Given the description of an element on the screen output the (x, y) to click on. 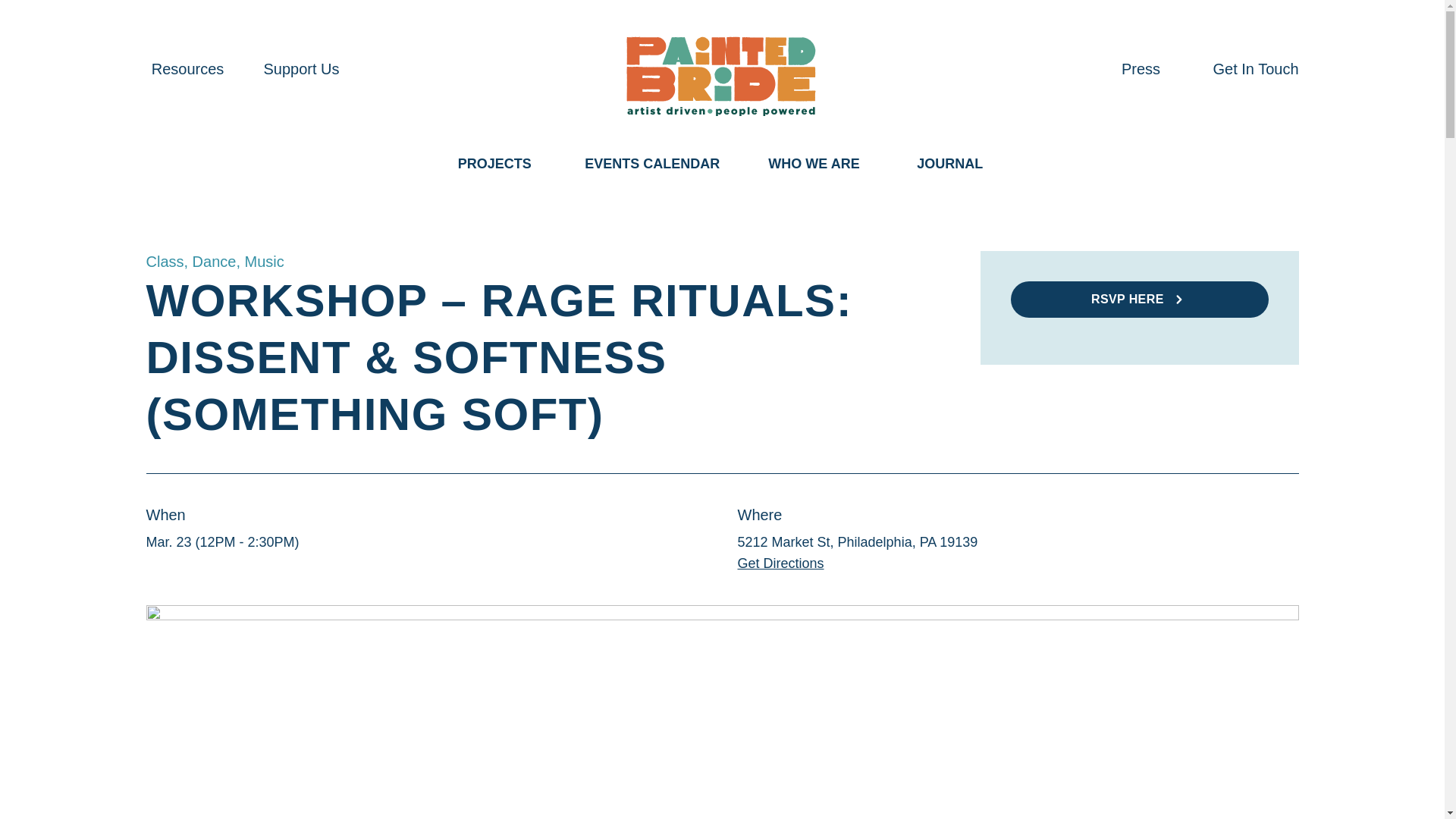
EVENTS CALENDAR (652, 163)
PROJECTS (493, 163)
Get Directions (780, 563)
JOURNAL (949, 163)
Resources (187, 68)
RSVP HERE (1139, 299)
Support Us (301, 68)
Get In Touch (1255, 68)
WHO WE ARE (813, 163)
Press (1140, 68)
